Given the description of an element on the screen output the (x, y) to click on. 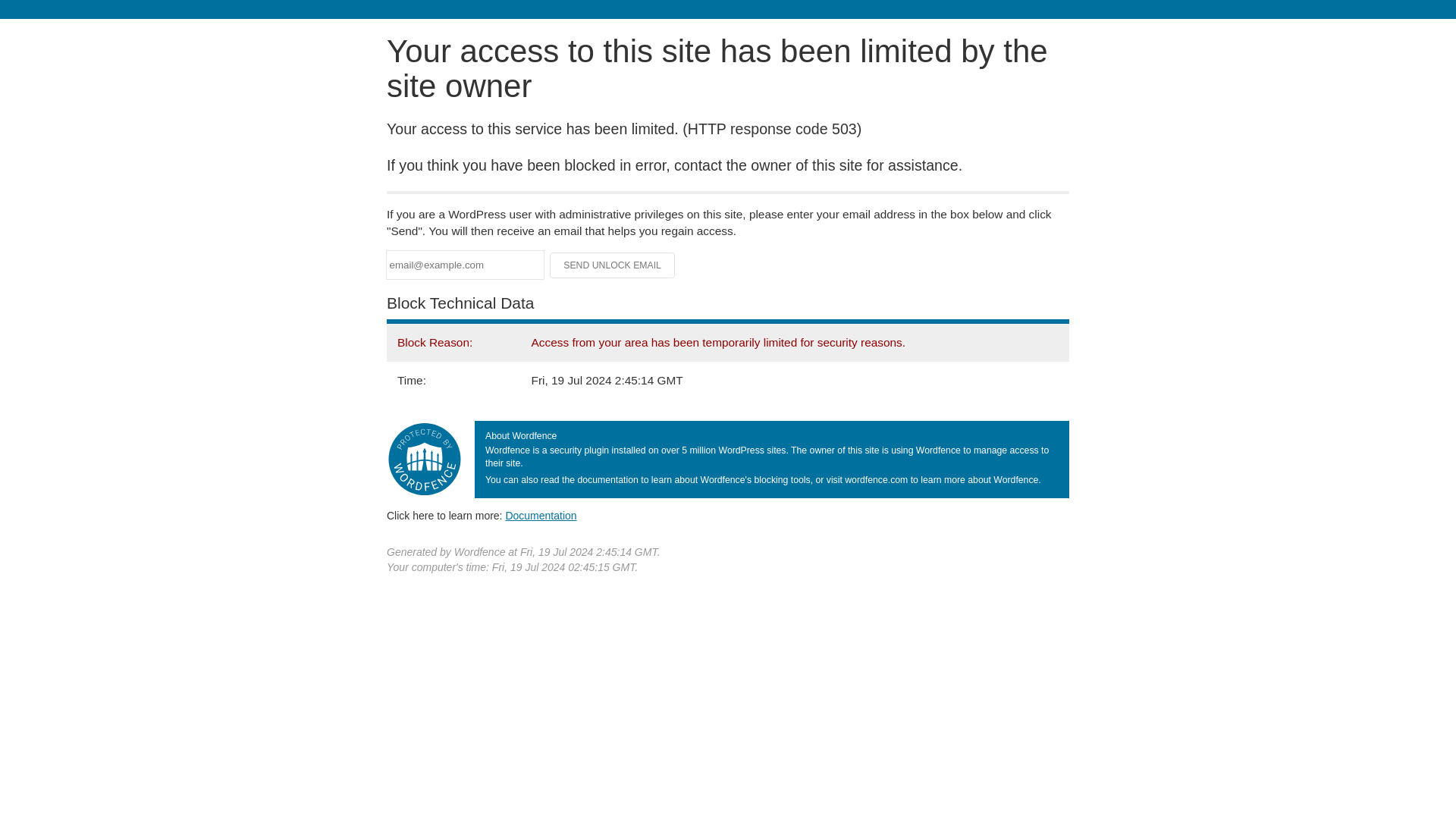
Documentation (540, 515)
Send Unlock Email (612, 265)
Send Unlock Email (612, 265)
